Given the description of an element on the screen output the (x, y) to click on. 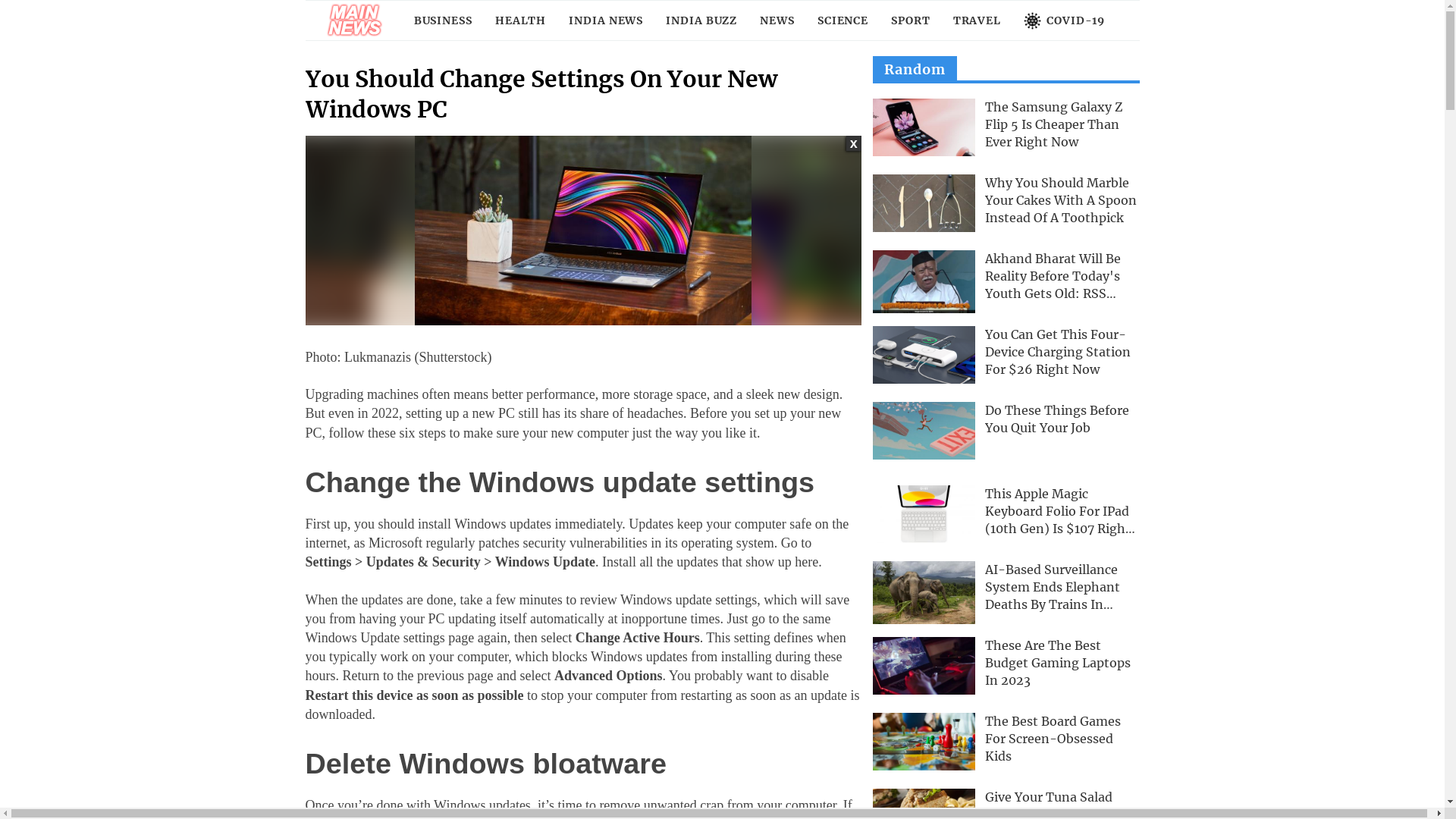
NEWS Element type: text (777, 20)
These Are the Best Budget Gaming Laptops in 2023 Element type: hover (923, 665)
These Are The Best Budget Gaming Laptops In 2023 Element type: text (1057, 662)
COVID-19 Element type: text (1064, 20)
SPORT Element type: text (910, 20)
INDIA BUZZ Element type: text (701, 20)
The Best Board Games For Screen-Obsessed Kids Element type: text (1052, 738)
TRAVEL Element type: text (976, 20)
Do These Things Before You Quit Your Job Element type: hover (923, 430)
Do These Things Before You Quit Your Job Element type: text (1057, 418)
INDIA NEWS Element type: text (605, 20)
HEALTH Element type: text (520, 20)
The Samsung Galaxy Z Flip 5 Is Cheaper Than Ever Right Now Element type: text (1053, 124)
The Samsung Galaxy Z Flip 5 Is Cheaper Than Ever Right Now Element type: hover (923, 127)
The Best Board Games for Screen-Obsessed Kids Element type: hover (923, 741)
SCIENCE Element type: text (842, 20)
BUSINESS Element type: text (442, 20)
